Given the description of an element on the screen output the (x, y) to click on. 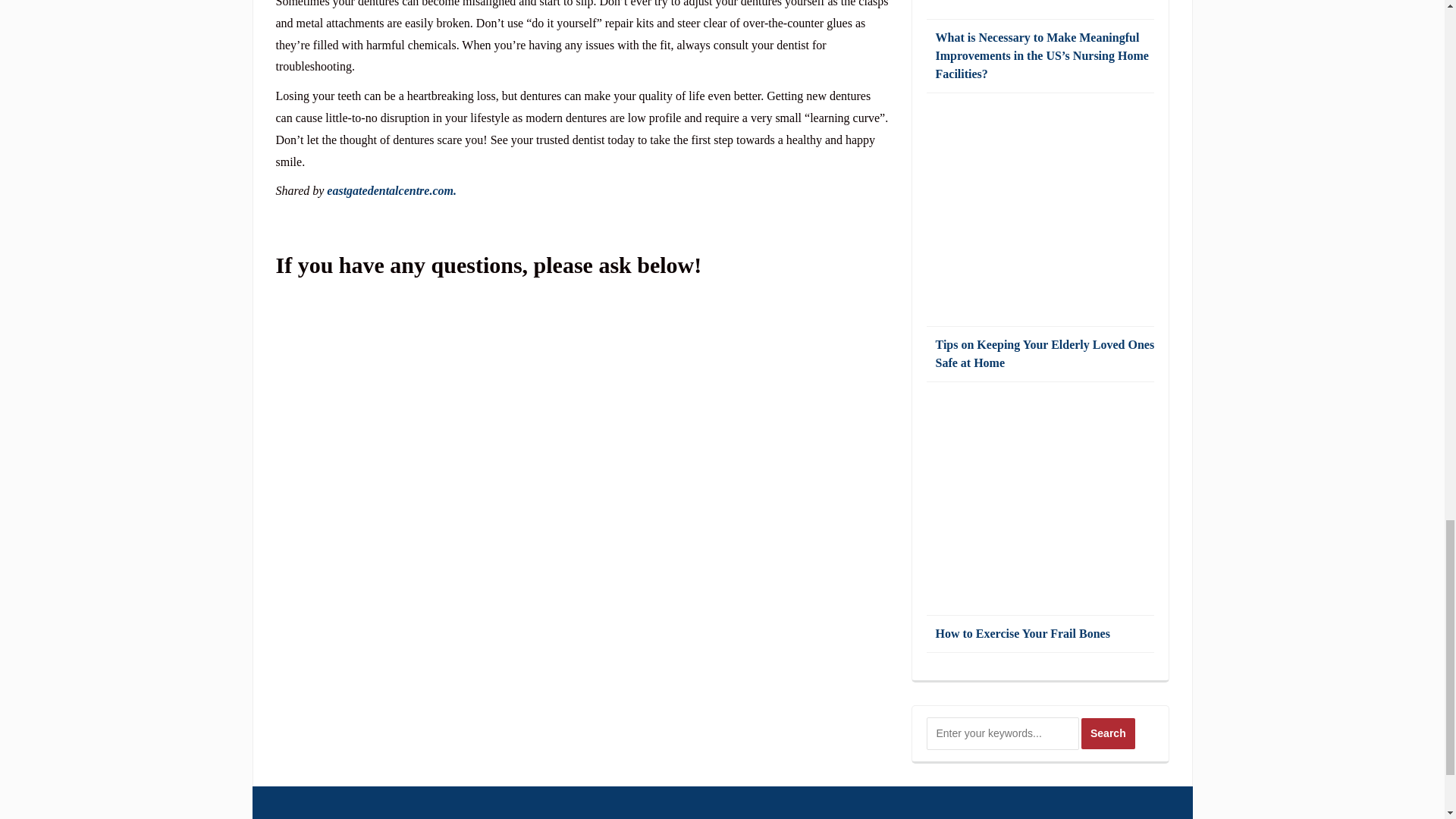
Search (1108, 733)
Search (1108, 733)
